Given the description of an element on the screen output the (x, y) to click on. 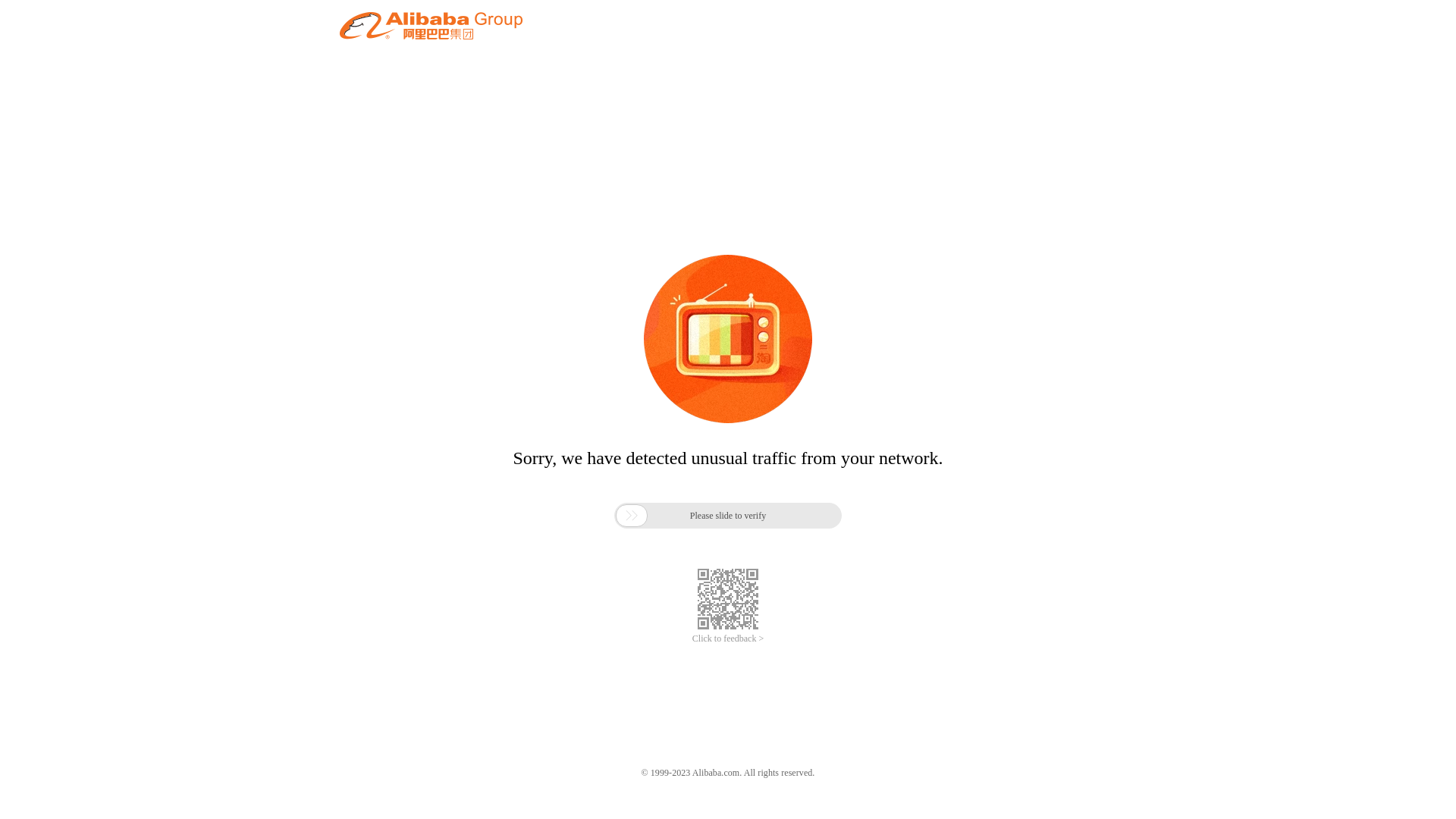
Click to feedback > Element type: text (727, 638)
